Given the description of an element on the screen output the (x, y) to click on. 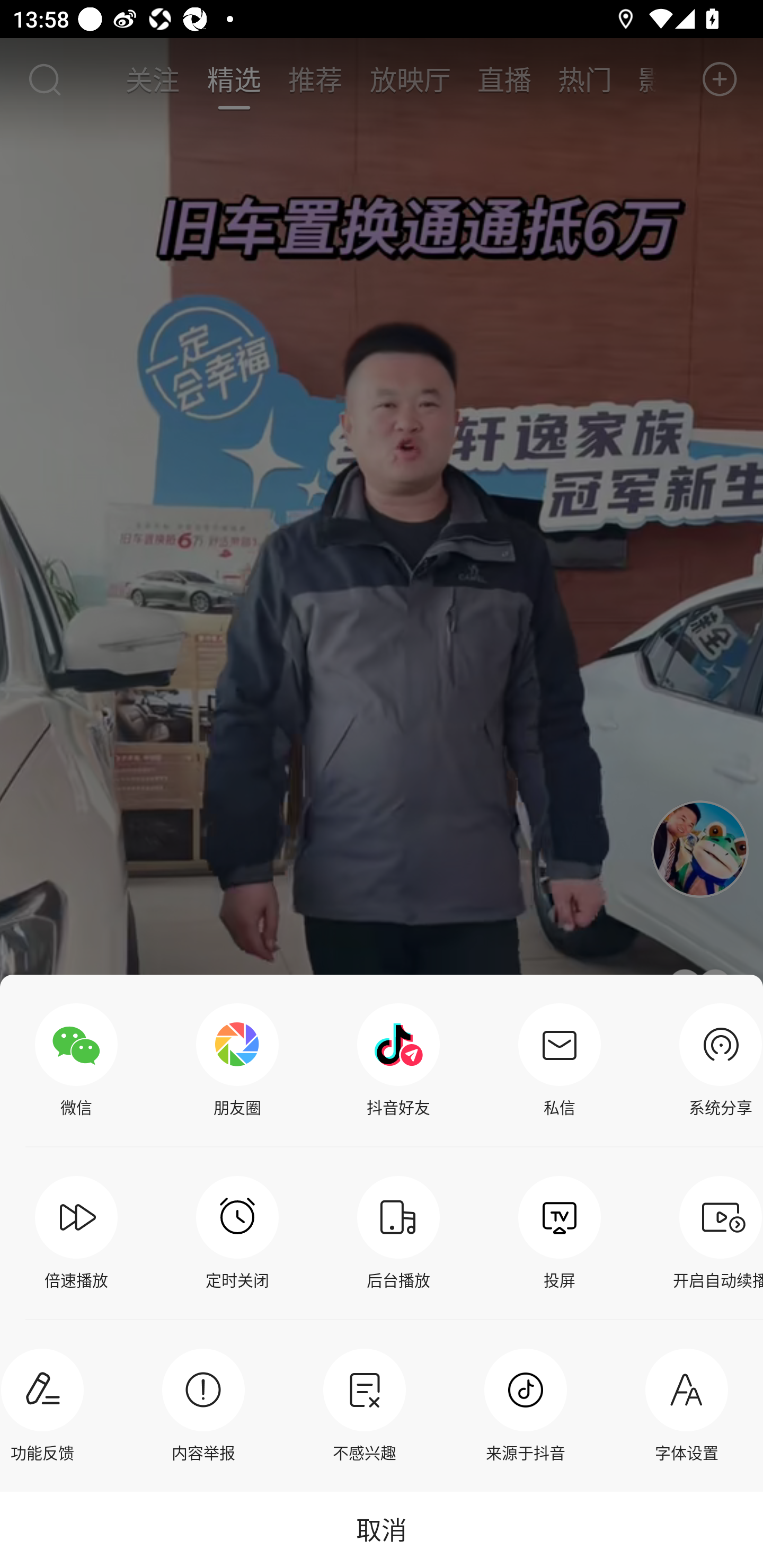
微信 (76, 1060)
朋友圈 (237, 1060)
抖音好友 (398, 1060)
私信 (559, 1060)
系统分享 (716, 1060)
倍速播放 (76, 1232)
定时关闭 (237, 1232)
后台播放 (398, 1232)
投屏 (559, 1232)
开启自动续播 (716, 1232)
功能反馈 (46, 1405)
内容举报 (203, 1405)
不感兴趣 (364, 1405)
来源于抖音 (525, 1405)
字体设置 (686, 1405)
取消 (381, 1529)
